Given the description of an element on the screen output the (x, y) to click on. 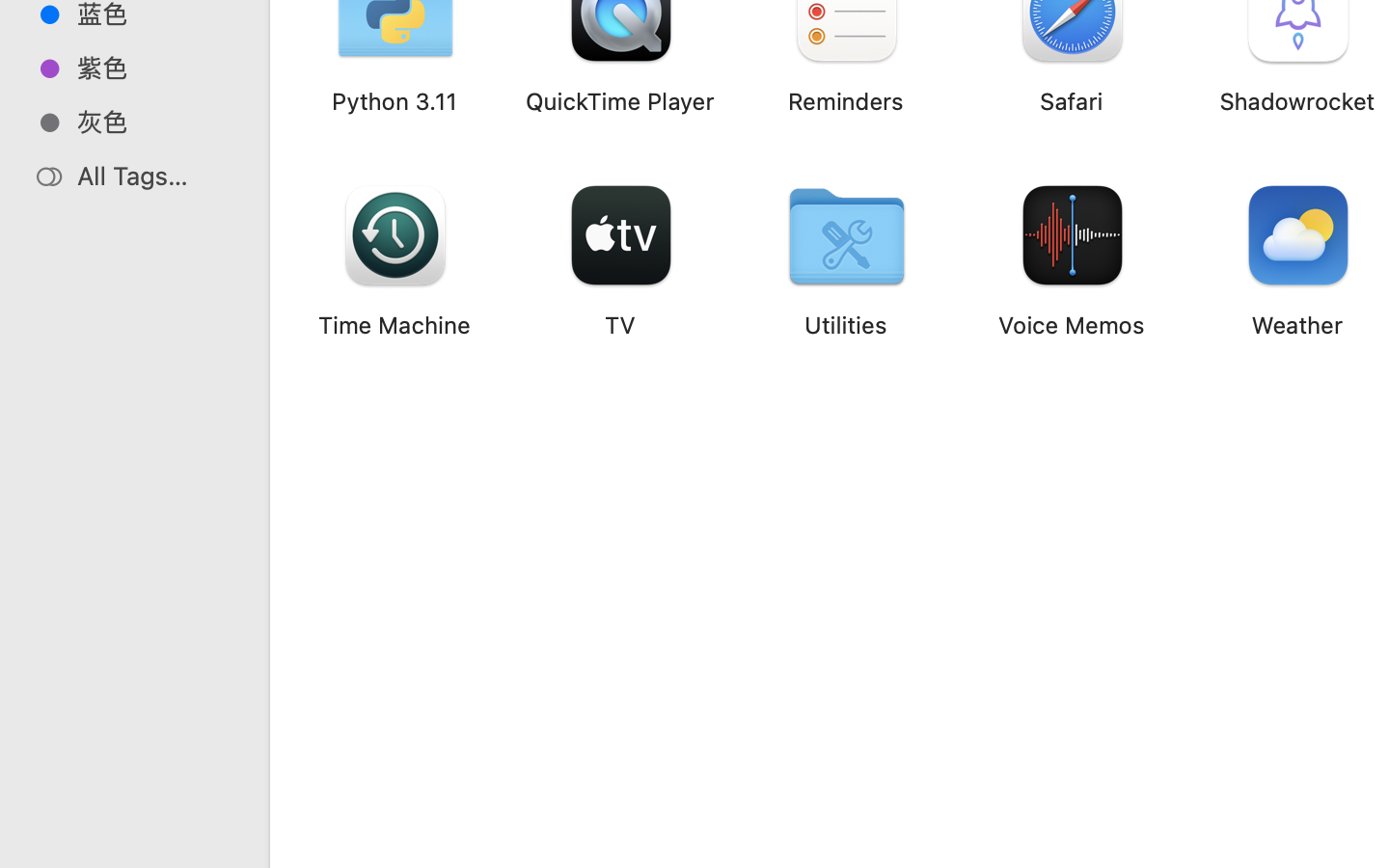
紫色 Element type: AXStaticText (155, 67)
